Given the description of an element on the screen output the (x, y) to click on. 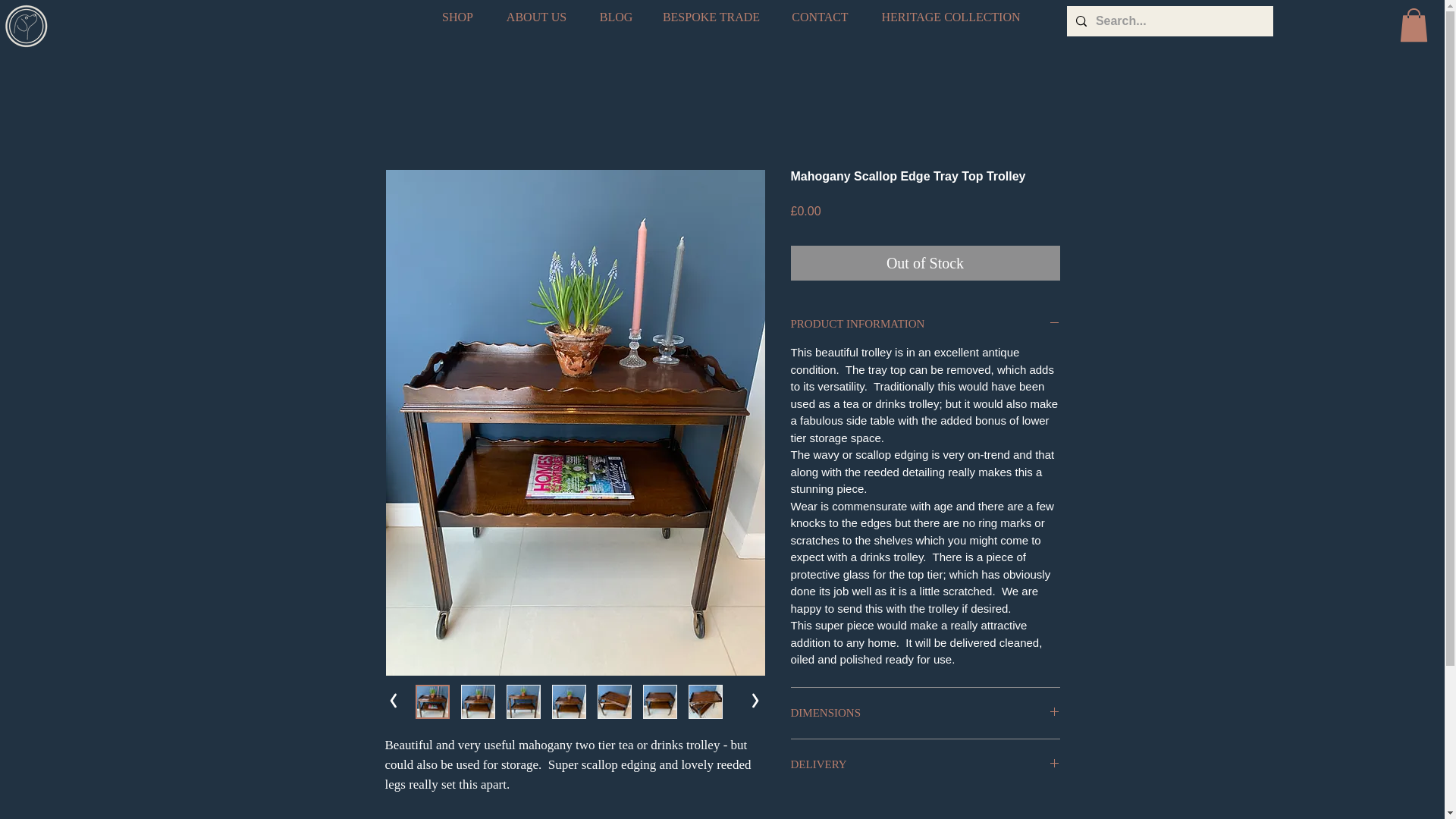
Out of Stock (924, 262)
DIMENSIONS (924, 712)
BESPOKE TRADE (711, 16)
CONTACT (820, 16)
PRODUCT INFORMATION (924, 323)
ABOUT US (535, 16)
HERITAGE COLLECTION (951, 16)
BLOG (615, 16)
SHOP (457, 16)
